Given the description of an element on the screen output the (x, y) to click on. 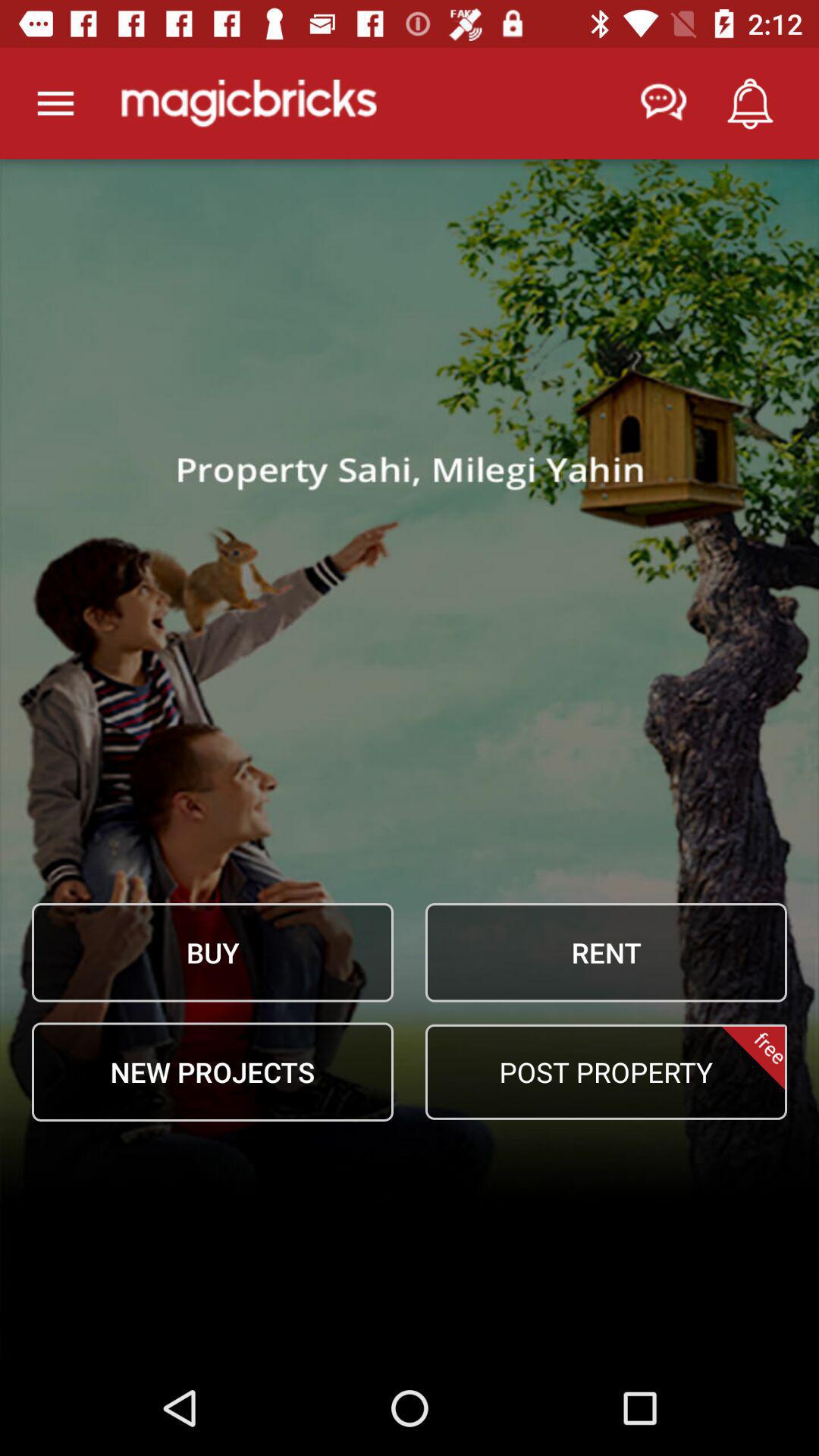
choose the buy item (212, 952)
